Given the description of an element on the screen output the (x, y) to click on. 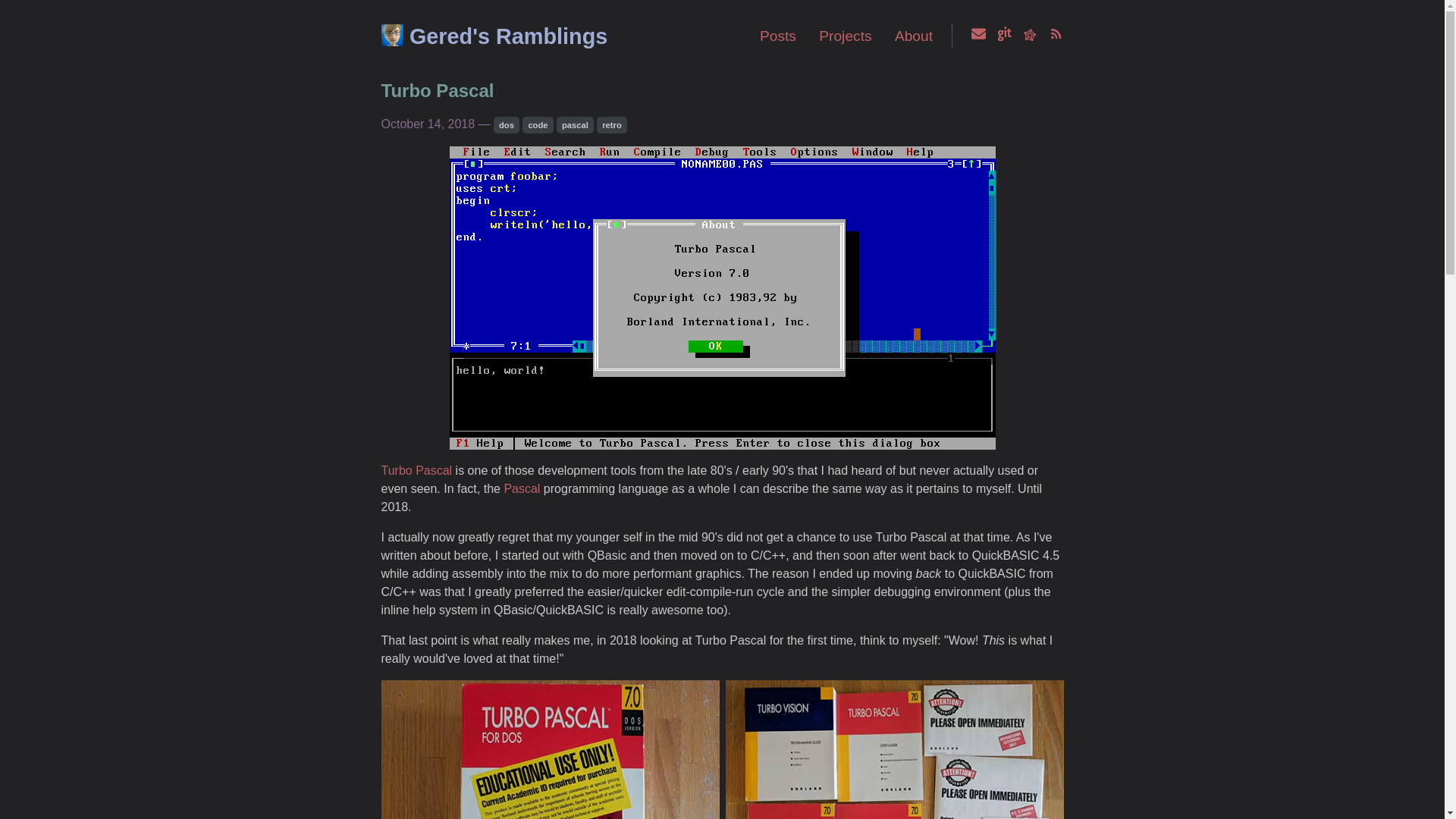
Turbo Pascal Element type: text (415, 470)
Git Element type: hover (1004, 35)
pascal Element type: text (574, 124)
code Element type: text (537, 124)
retro Element type: text (611, 124)
Posts Element type: text (777, 35)
Pascal Element type: text (521, 488)
Turbo Pascal Element type: text (436, 90)
Gered's Ramblings Element type: text (508, 36)
dos Element type: text (506, 124)
Projects Element type: text (845, 35)
Email Element type: hover (978, 35)
About Element type: text (913, 35)
RSS Element type: hover (1055, 35)
Fediverse Element type: hover (1029, 35)
